Given the description of an element on the screen output the (x, y) to click on. 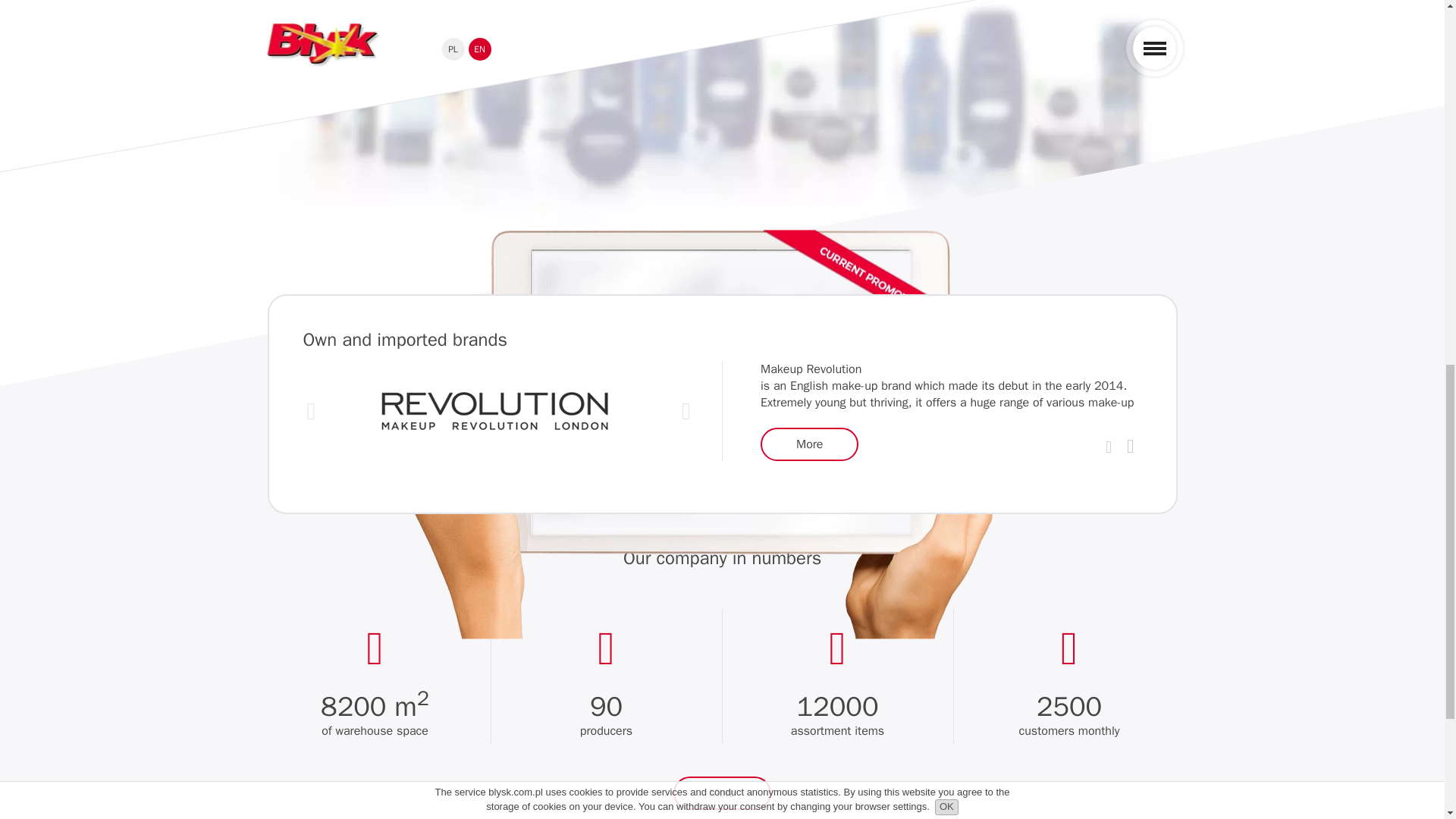
About us (721, 792)
Brands (809, 444)
More (809, 444)
